Given the description of an element on the screen output the (x, y) to click on. 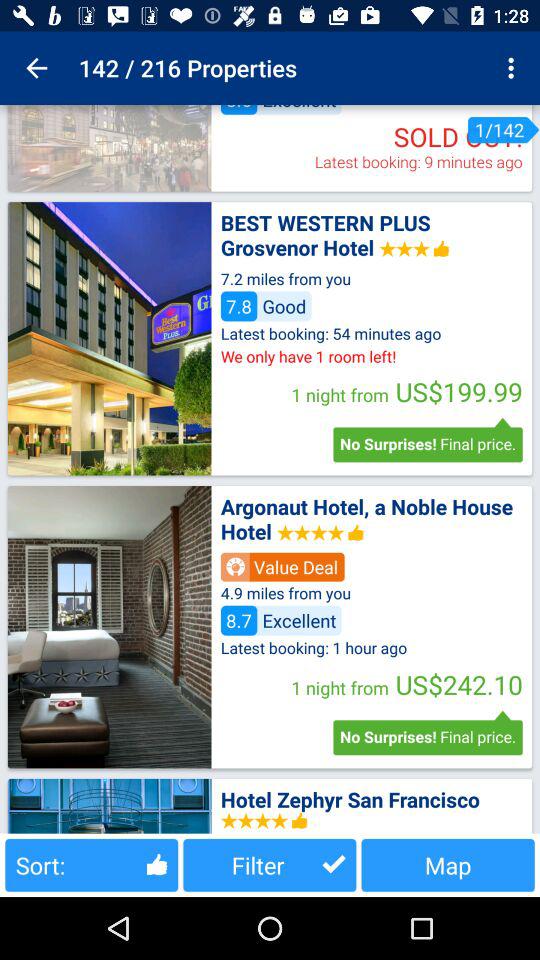
select item next to filter item (91, 864)
